Given the description of an element on the screen output the (x, y) to click on. 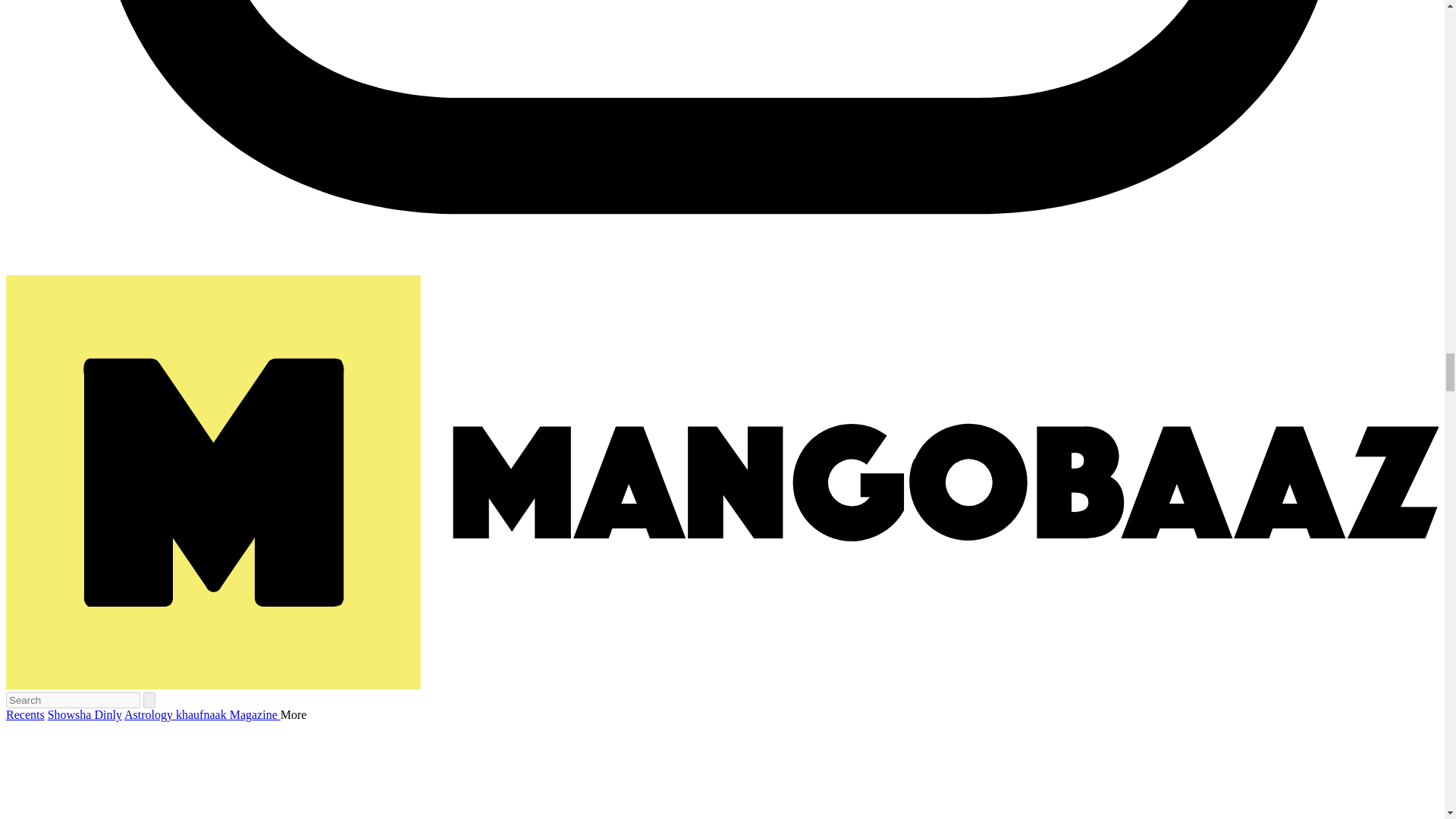
MangoBaaz Magazine (255, 714)
Showsha (71, 714)
Recents (25, 714)
Magazine (255, 714)
khaufnaak (203, 714)
Dinly (107, 714)
Astrology (149, 714)
